Given the description of an element on the screen output the (x, y) to click on. 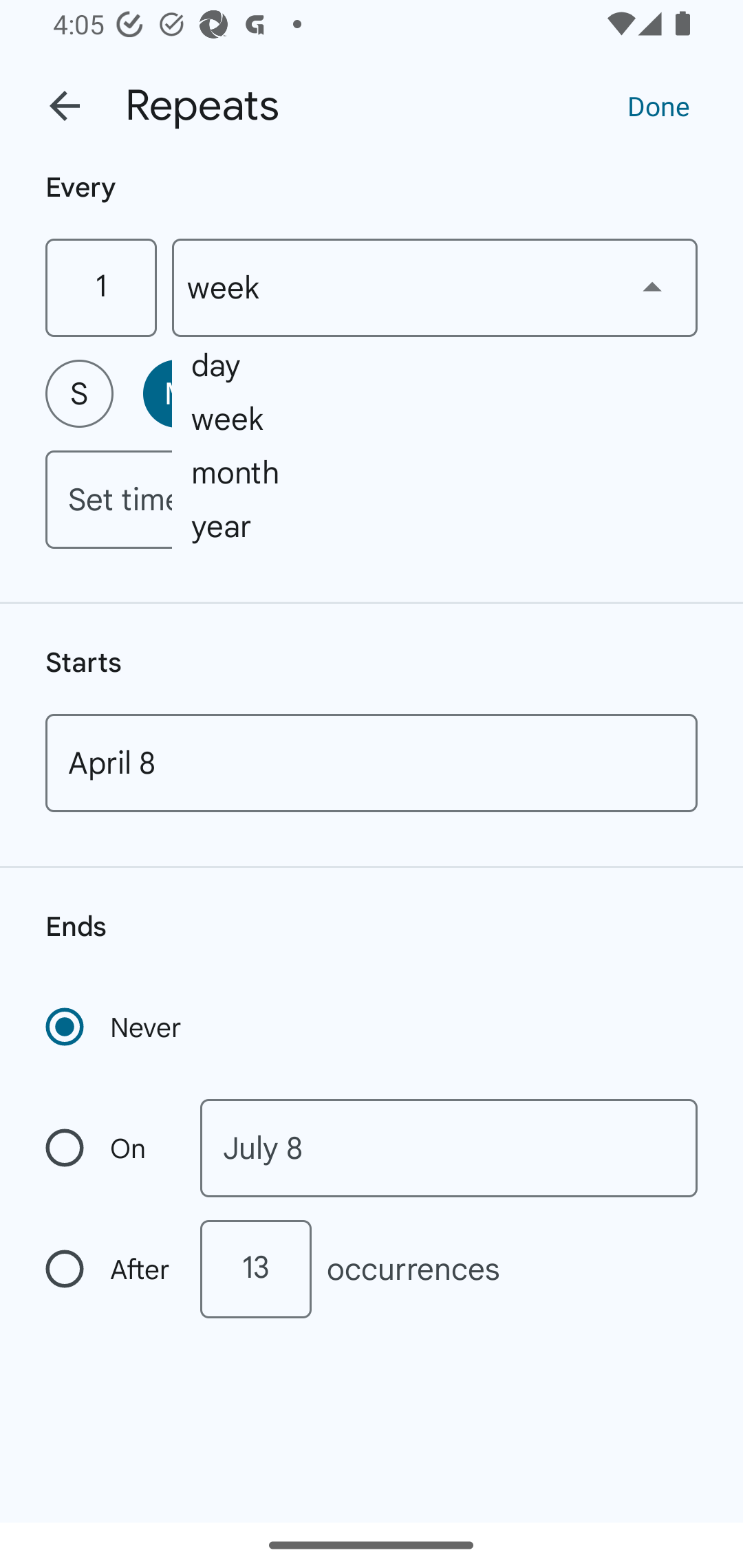
Back (64, 105)
Done (658, 105)
1 (100, 287)
week (434, 287)
Show dropdown menu (652, 286)
S Sunday (79, 393)
Set time (371, 499)
April 8 (371, 762)
Never Recurrence never ends (115, 1026)
July 8 (448, 1148)
On Recurrence ends on a specific date (109, 1148)
13 (255, 1268)
